Given the description of an element on the screen output the (x, y) to click on. 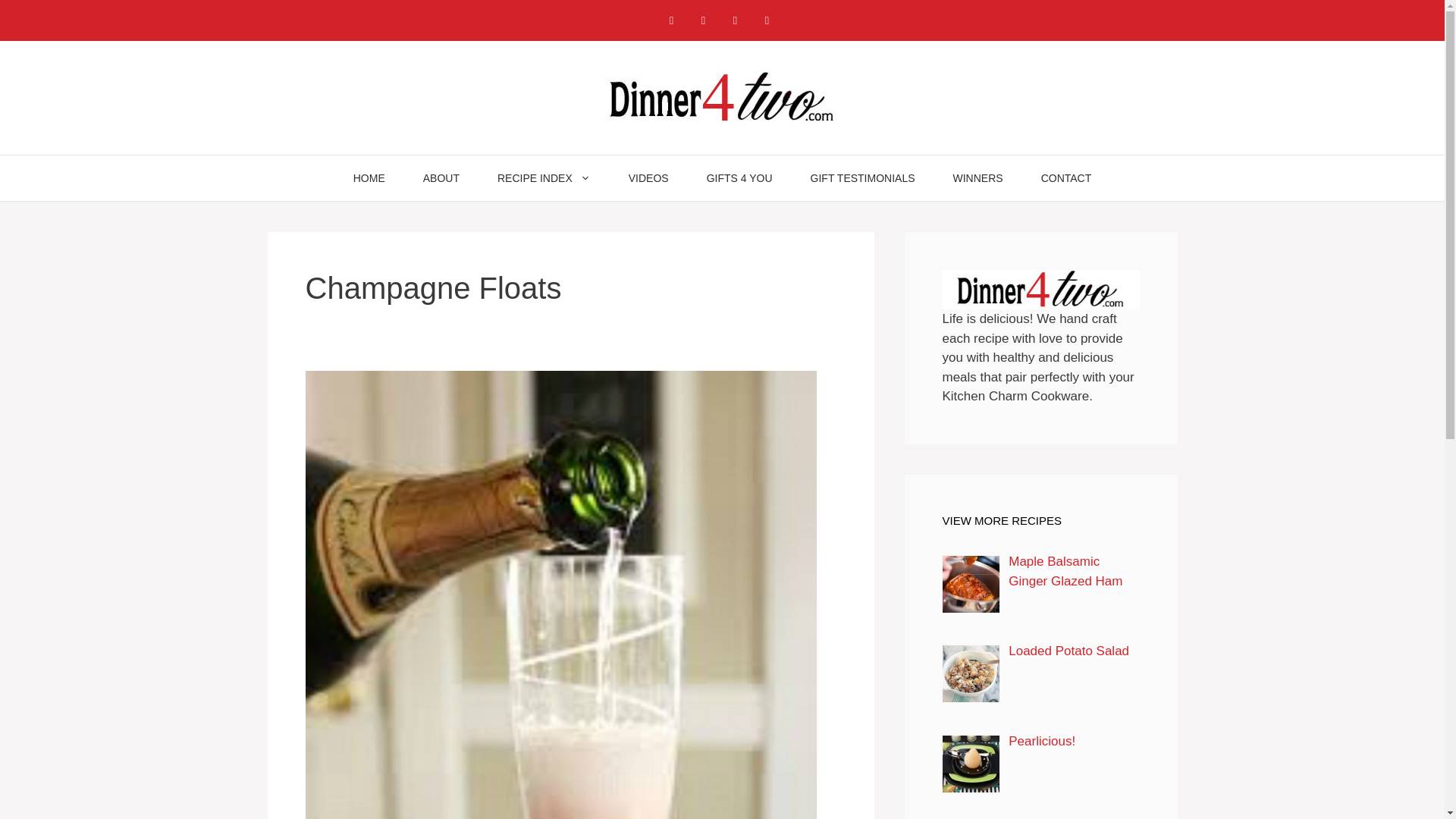
Dinner 4 Two (722, 96)
RECIPE INDEX (544, 177)
Pinterest (735, 20)
Instagram (703, 20)
Dinner 4 Two (722, 97)
ABOUT (441, 177)
HOME (369, 177)
Facebook (671, 20)
Twitter (766, 20)
